Given the description of an element on the screen output the (x, y) to click on. 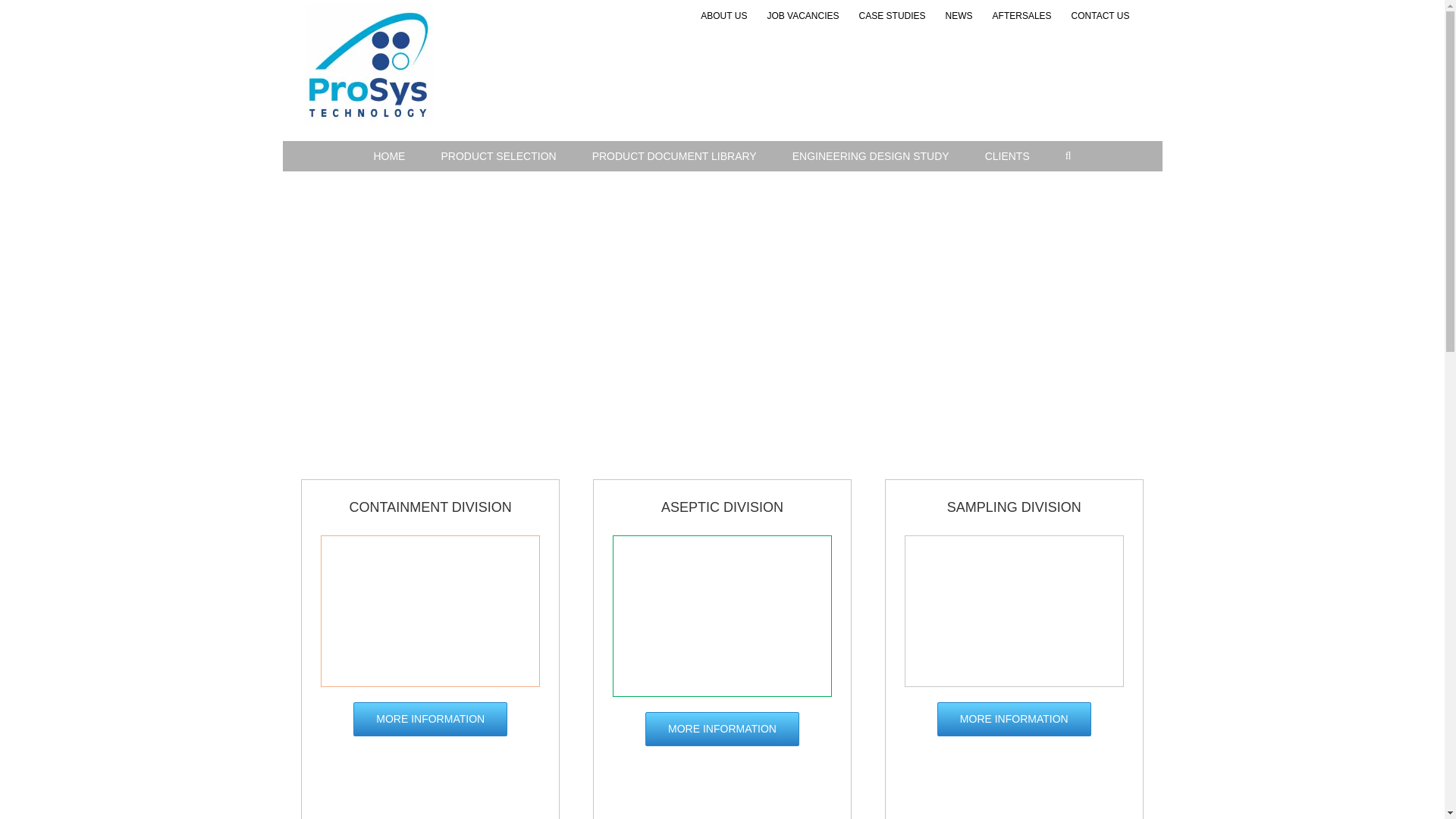
CLIENTS (1007, 155)
NEWS (959, 16)
CONTACT US (1100, 16)
HOME (388, 155)
PRODUCT SELECTION (497, 155)
ABOUT US (723, 16)
ASEPTIC DIVISION (722, 507)
PRODUCT DOCUMENT LIBRARY (673, 155)
AFTERSALES (1021, 16)
SAMPLING DIVISION (1014, 507)
